Given the description of an element on the screen output the (x, y) to click on. 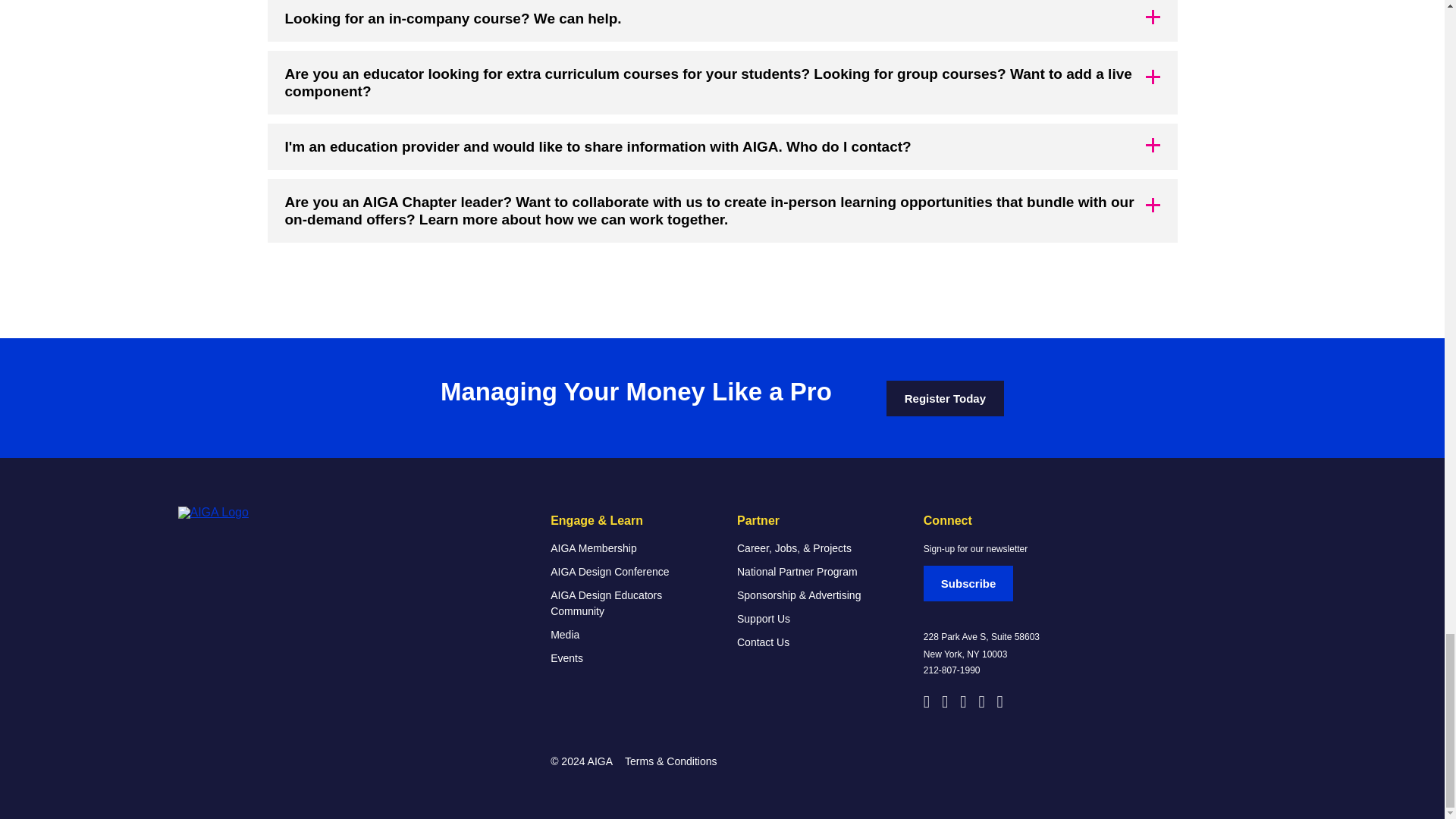
AIGA Design Educators Community (628, 603)
AIGA Logo (253, 512)
